Given the description of an element on the screen output the (x, y) to click on. 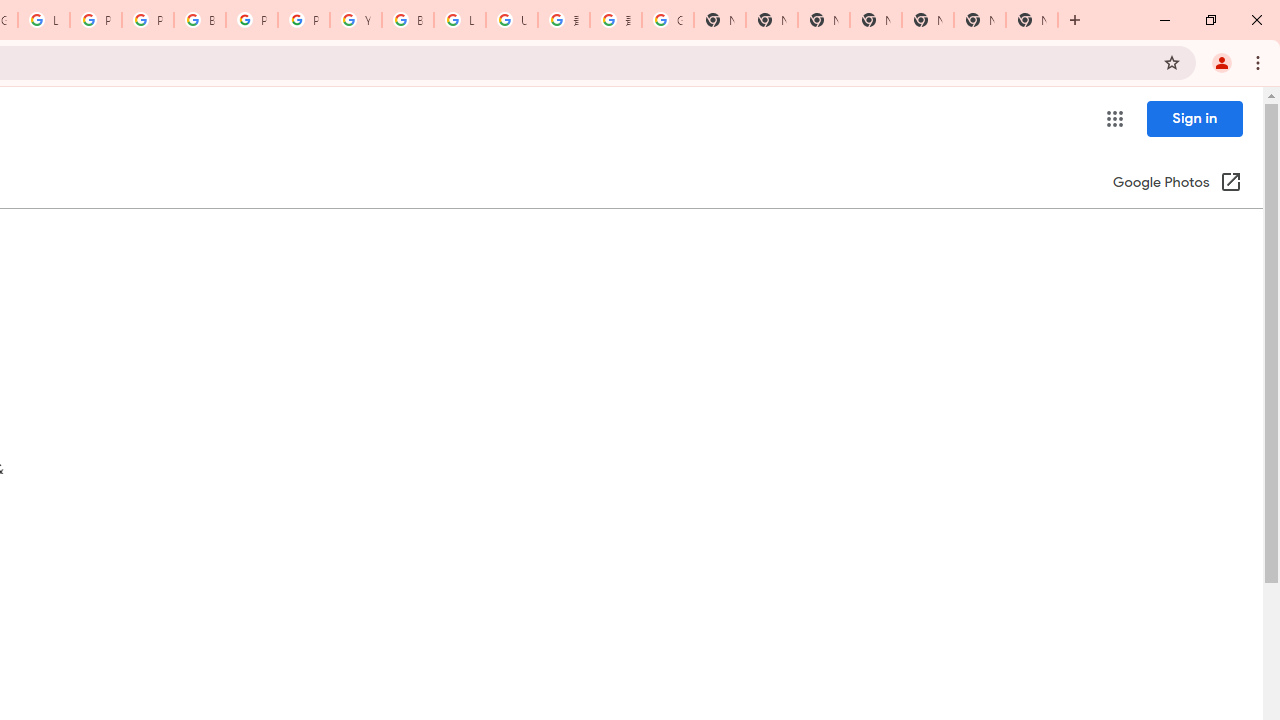
Privacy Help Center - Policies Help (95, 20)
New Tab (875, 20)
